Given the description of an element on the screen output the (x, y) to click on. 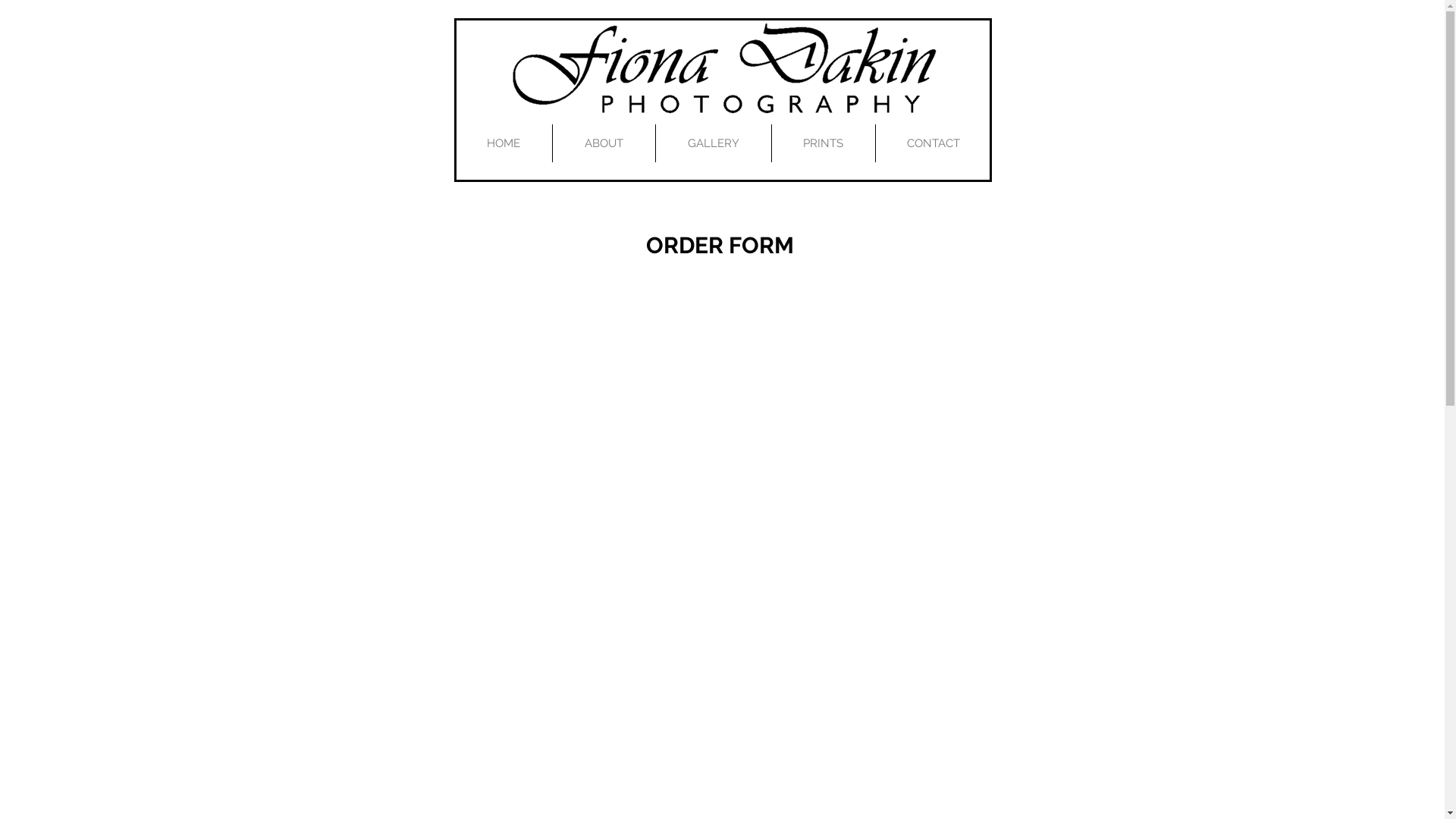
PRINTS Element type: text (823, 143)
HOME Element type: text (503, 143)
GALLERY Element type: text (712, 143)
blacklogo.png Element type: hover (721, 74)
ABOUT Element type: text (603, 143)
CONTACT Element type: text (933, 143)
